Given the description of an element on the screen output the (x, y) to click on. 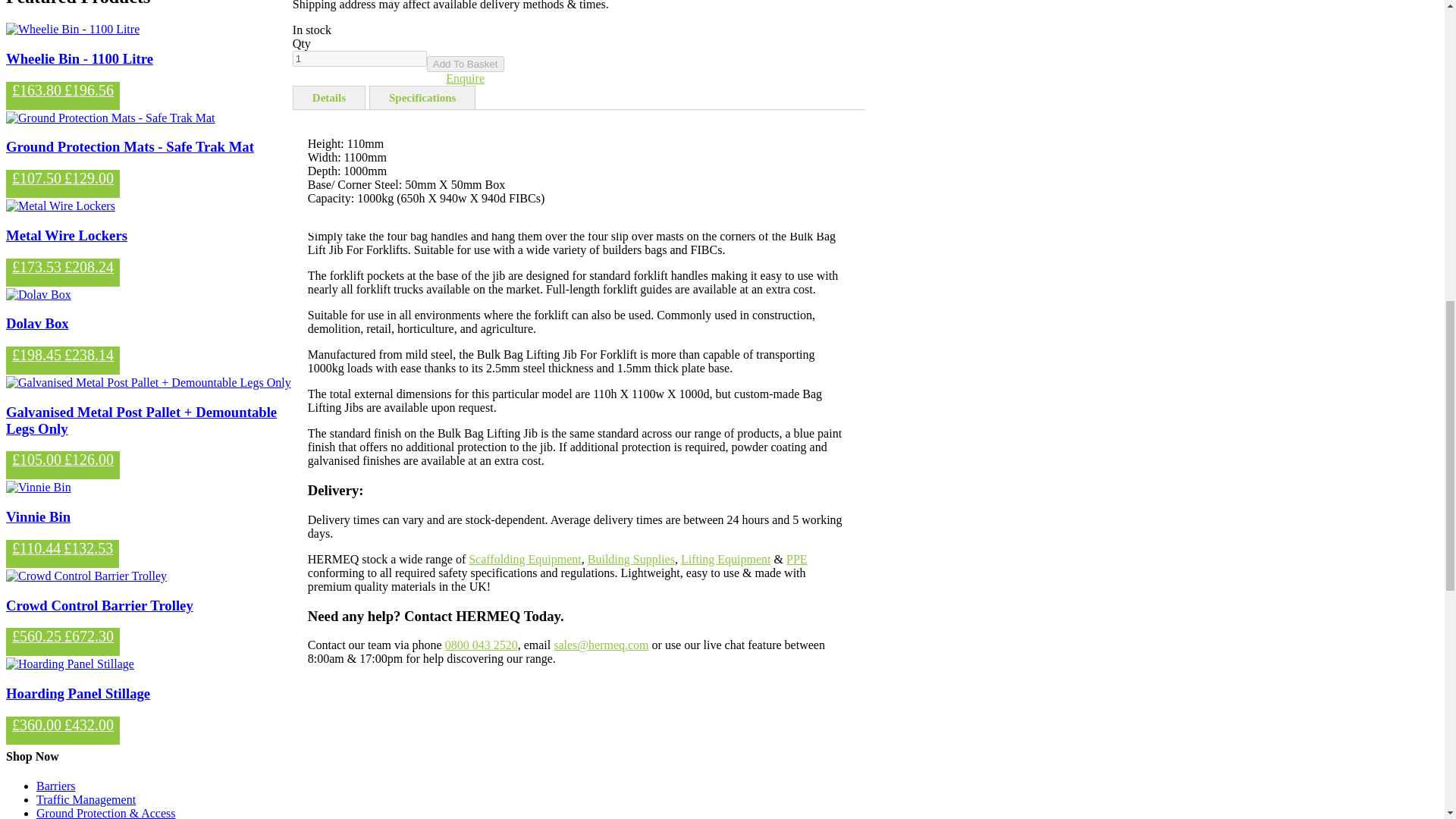
1 (359, 58)
